Given the description of an element on the screen output the (x, y) to click on. 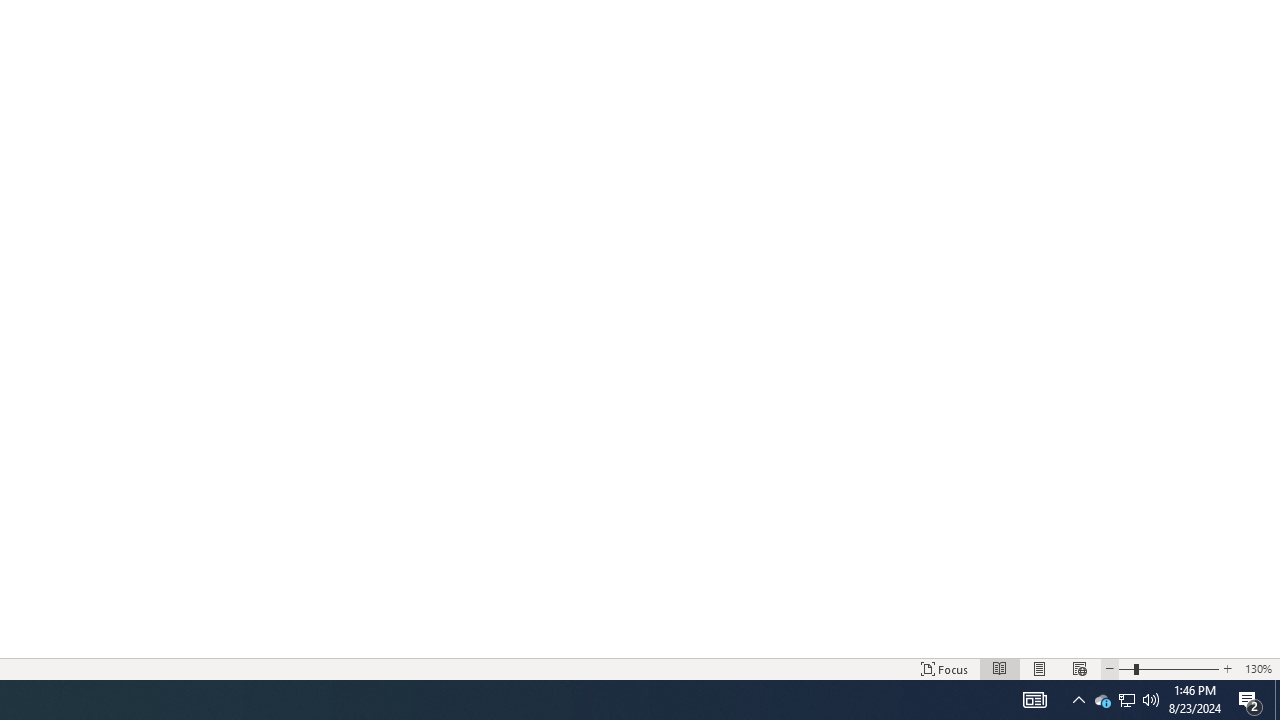
Increase Text Size (1227, 668)
Text Size (1168, 668)
Decrease Text Size (1109, 668)
